Given the description of an element on the screen output the (x, y) to click on. 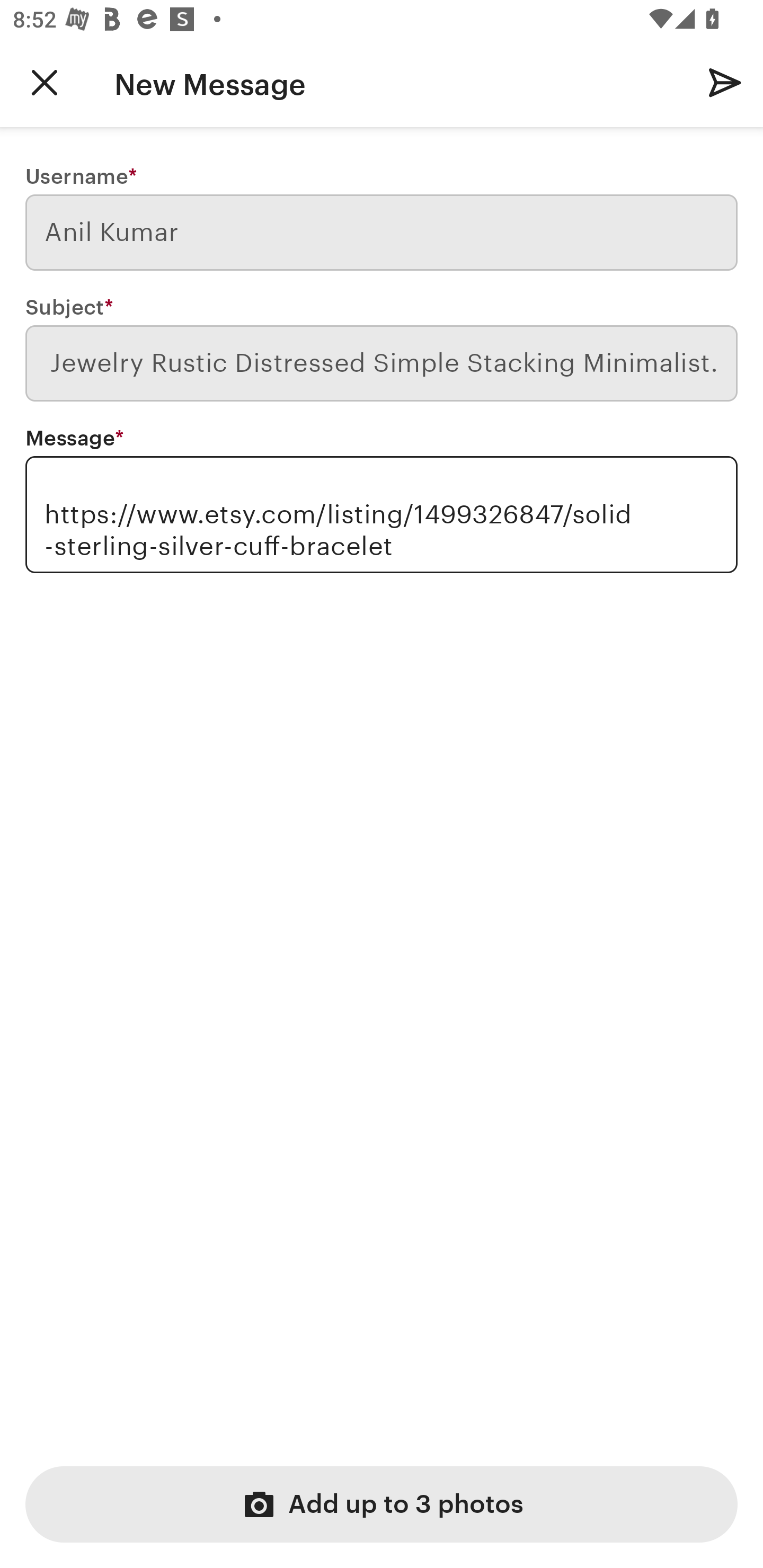
Navigate up (44, 81)
Anil Kumar (381, 232)
Add up to 3 photos (381, 1504)
